Given the description of an element on the screen output the (x, y) to click on. 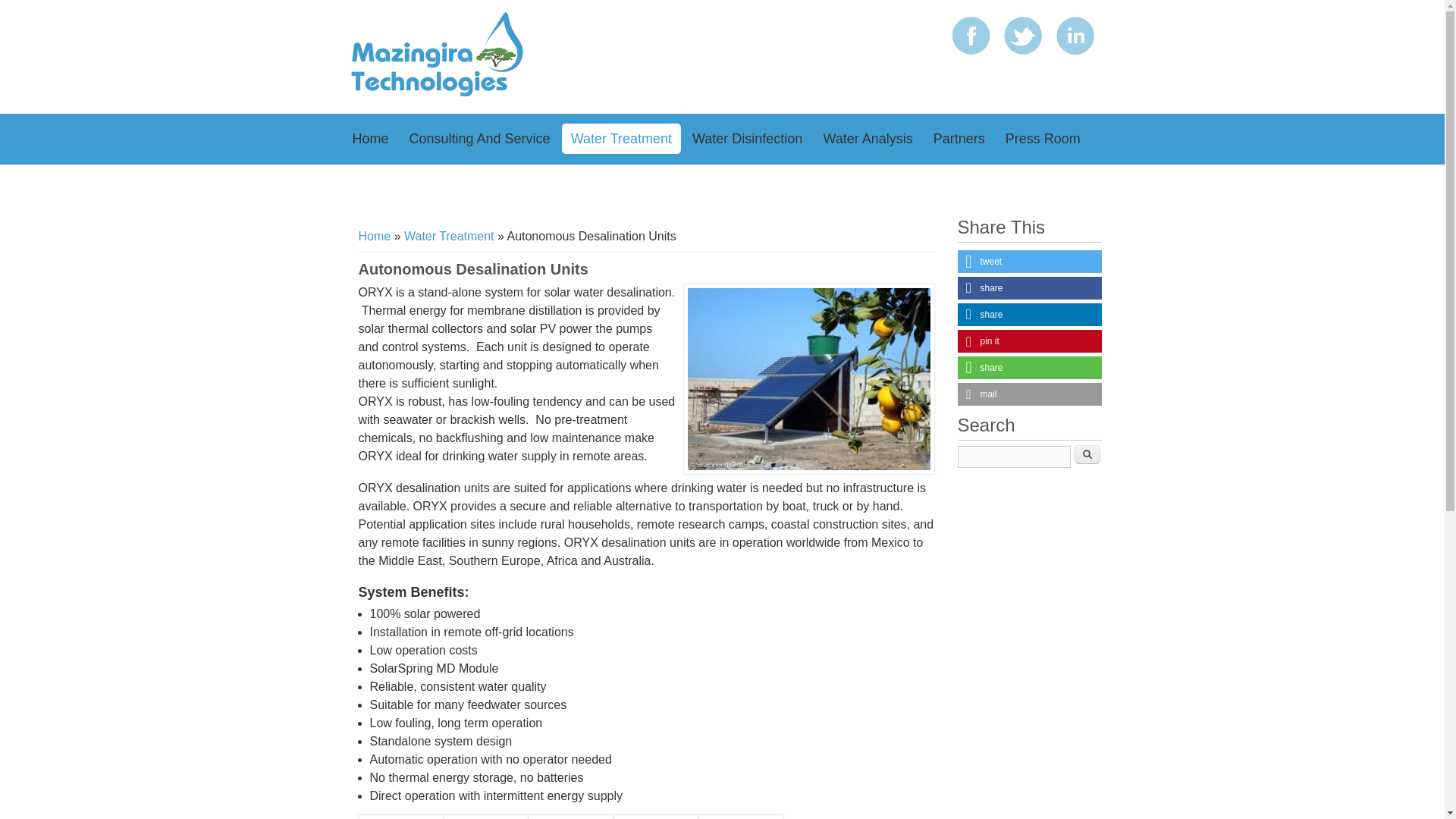
Pin it on Pinterest (1028, 341)
Water Analysis (867, 138)
Water Treatment (621, 138)
Autonomous Desalination System (808, 379)
Front view on solar heater and solar panel (400, 816)
Mounted on a roof (484, 816)
Home (374, 236)
View from the side (569, 816)
Water Disinfection (746, 138)
Share on Facebook (1028, 287)
Schematic overview (740, 816)
Press Room (1042, 138)
Partners (959, 138)
Consulting And Service (479, 138)
Search (1087, 454)
